Given the description of an element on the screen output the (x, y) to click on. 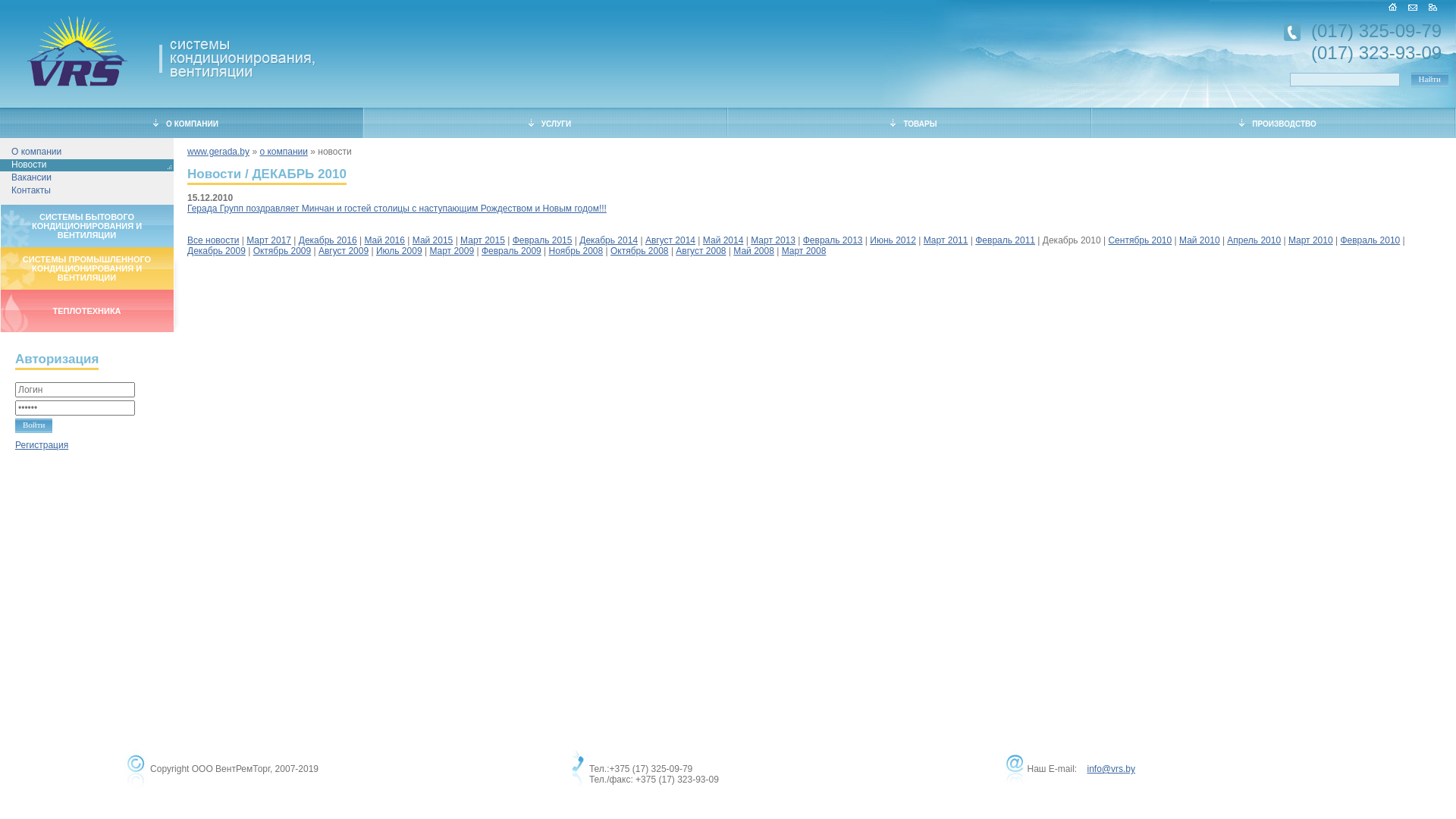
www.gerada.by Element type: text (218, 151)
info@vrs.by Element type: text (1110, 768)
